Given the description of an element on the screen output the (x, y) to click on. 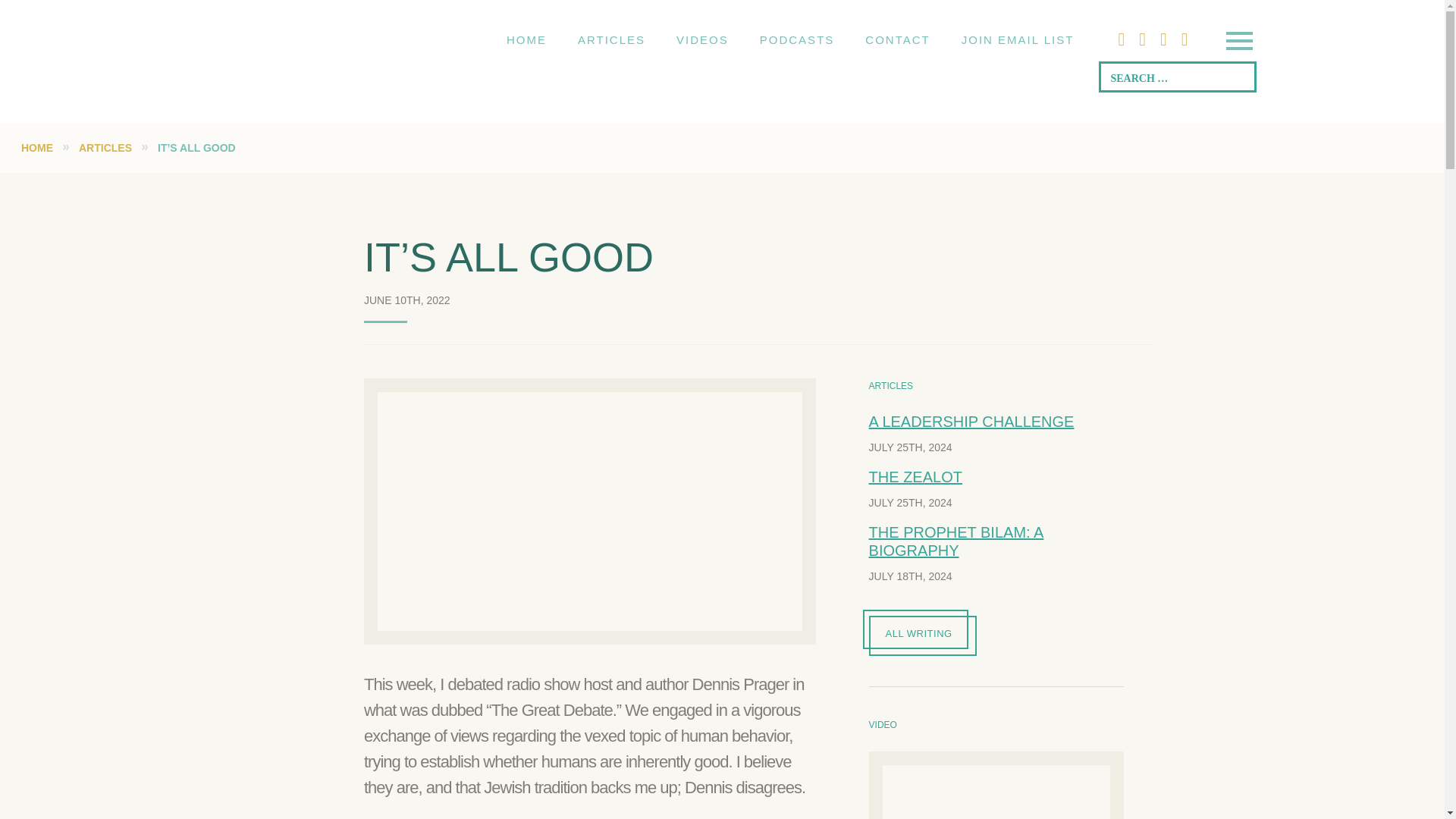
THE ZEALOT (915, 476)
JOIN EMAIL LIST (1017, 40)
A LEADERSHIP CHALLENGE (971, 421)
ARTICLES (104, 147)
VIDEOS (702, 40)
PODCASTS (796, 40)
HOME (526, 40)
Rabbi Pini Dunner (310, 40)
CONTACT (897, 40)
toggle menu (1238, 43)
ARTICLES (611, 40)
HOME (36, 147)
